Given the description of an element on the screen output the (x, y) to click on. 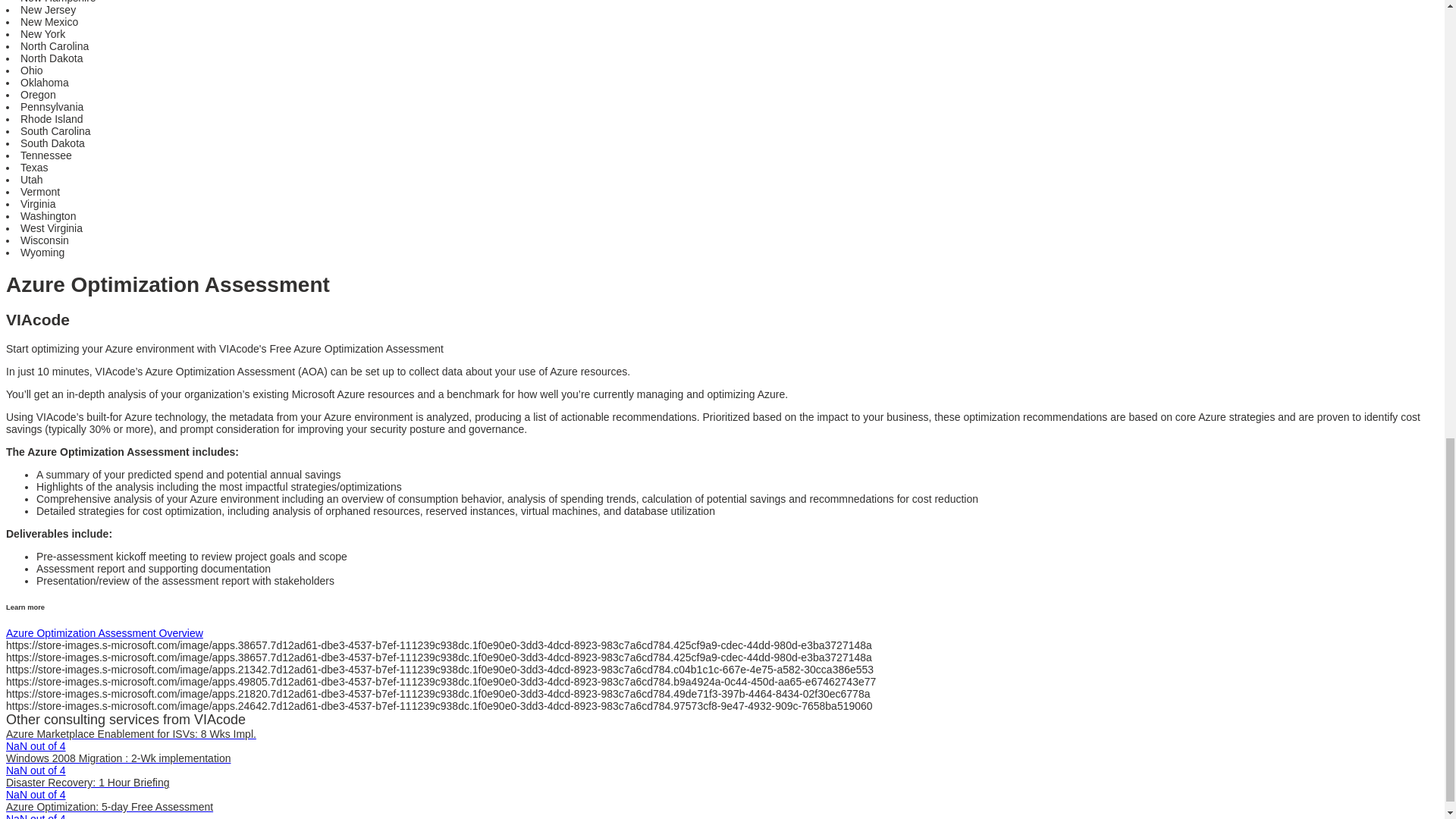
Azure Marketplace Enablement for ISVs: 8 Wks Impl. (130, 734)
Azure Optimization Assessment Overview (104, 633)
Azure Optimization: 5-day Free Assessment (108, 806)
Windows 2008 Migration : 2-Wk implementation (117, 758)
Disaster Recovery: 1 Hour Briefing (87, 782)
